Given the description of an element on the screen output the (x, y) to click on. 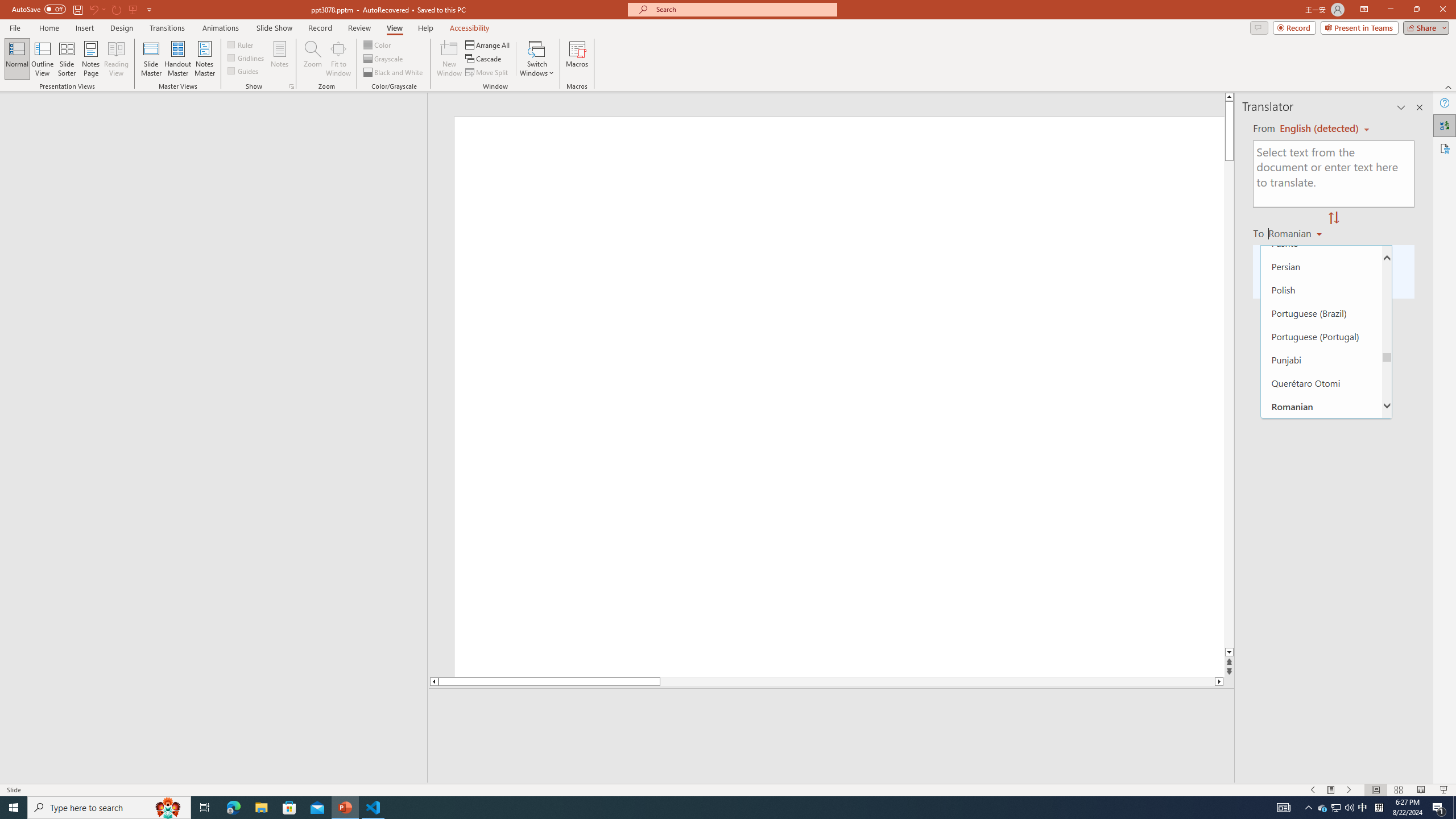
Grid Settings... (291, 85)
Slovenian (1320, 708)
Outline View (42, 58)
Handout Master (177, 58)
Nyanja (1320, 196)
Norwegian (1320, 173)
